Given the description of an element on the screen output the (x, y) to click on. 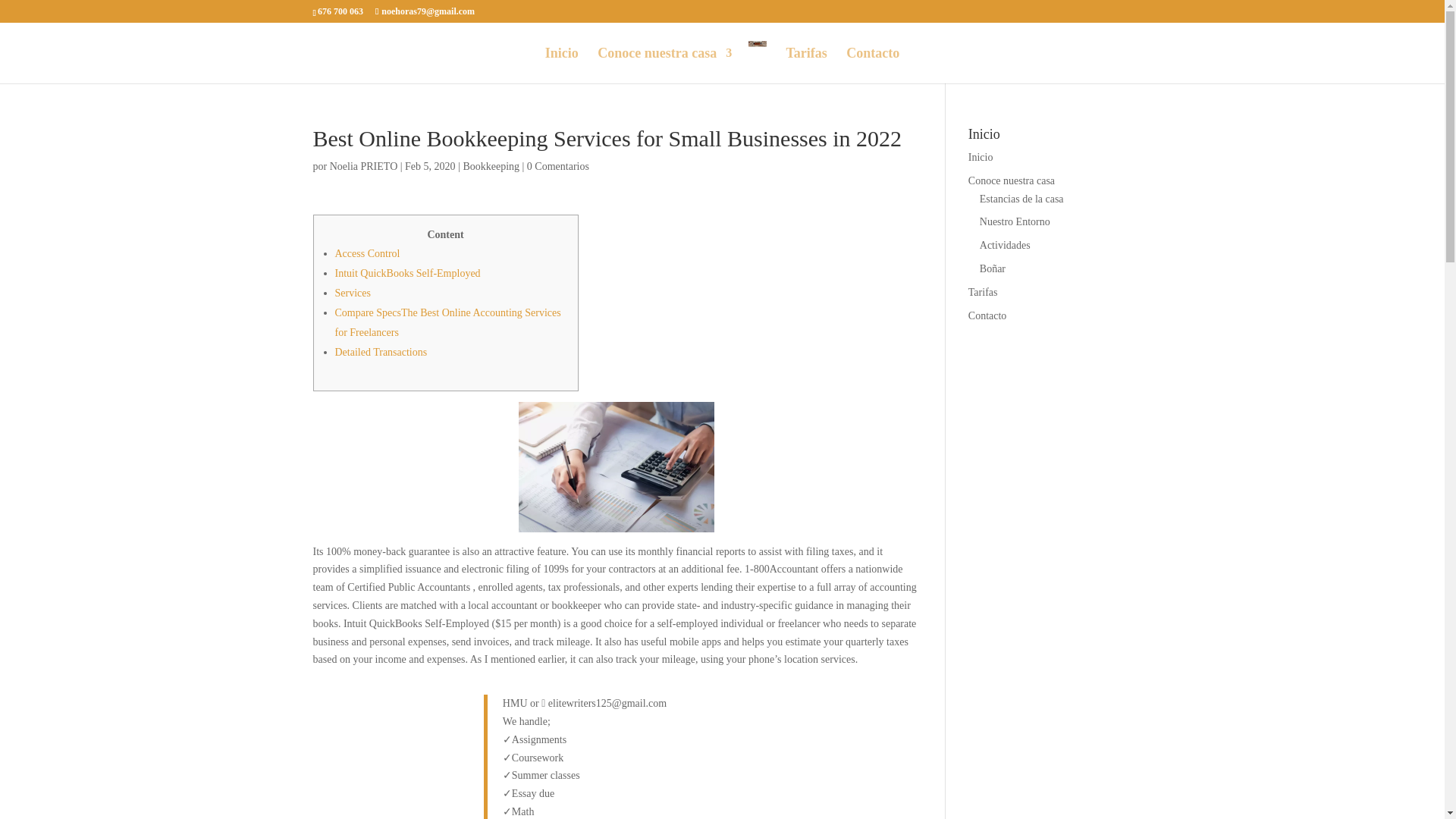
0 Comentarios (558, 165)
Mensajes de Noelia PRIETO (363, 165)
Conoce nuestra casa (664, 65)
Noelia PRIETO (363, 165)
Contacto (872, 65)
Inicio (561, 65)
Tarifas (982, 292)
Access Control (367, 253)
Services (352, 292)
Nuestro Entorno (1014, 221)
Actividades (1004, 244)
Bookkeeping (491, 165)
Tarifas (806, 65)
Detailed Transactions (381, 351)
